Given the description of an element on the screen output the (x, y) to click on. 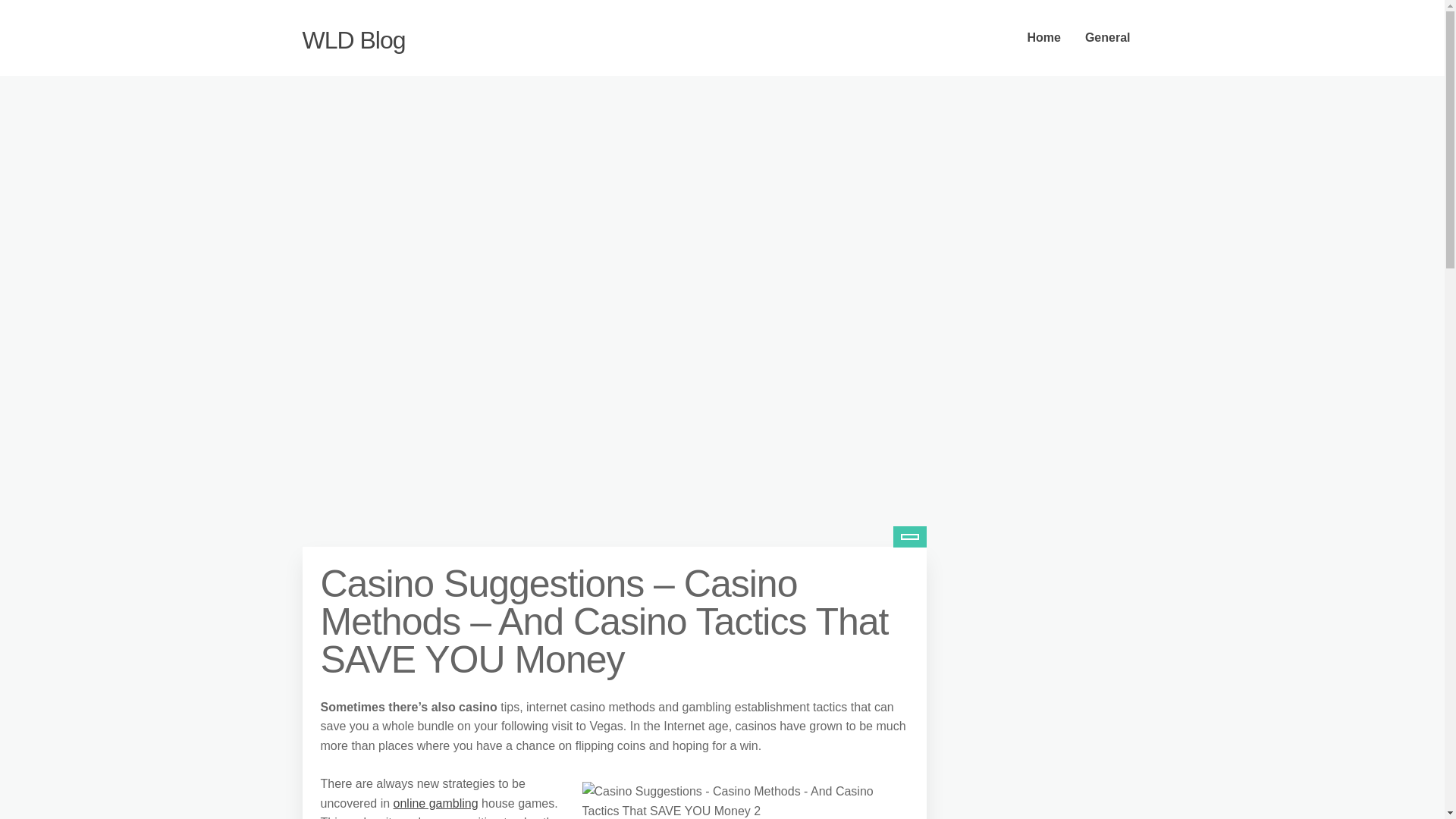
online gambling (436, 802)
WLD Blog (352, 39)
Home (1042, 37)
General (1107, 37)
